Given the description of an element on the screen output the (x, y) to click on. 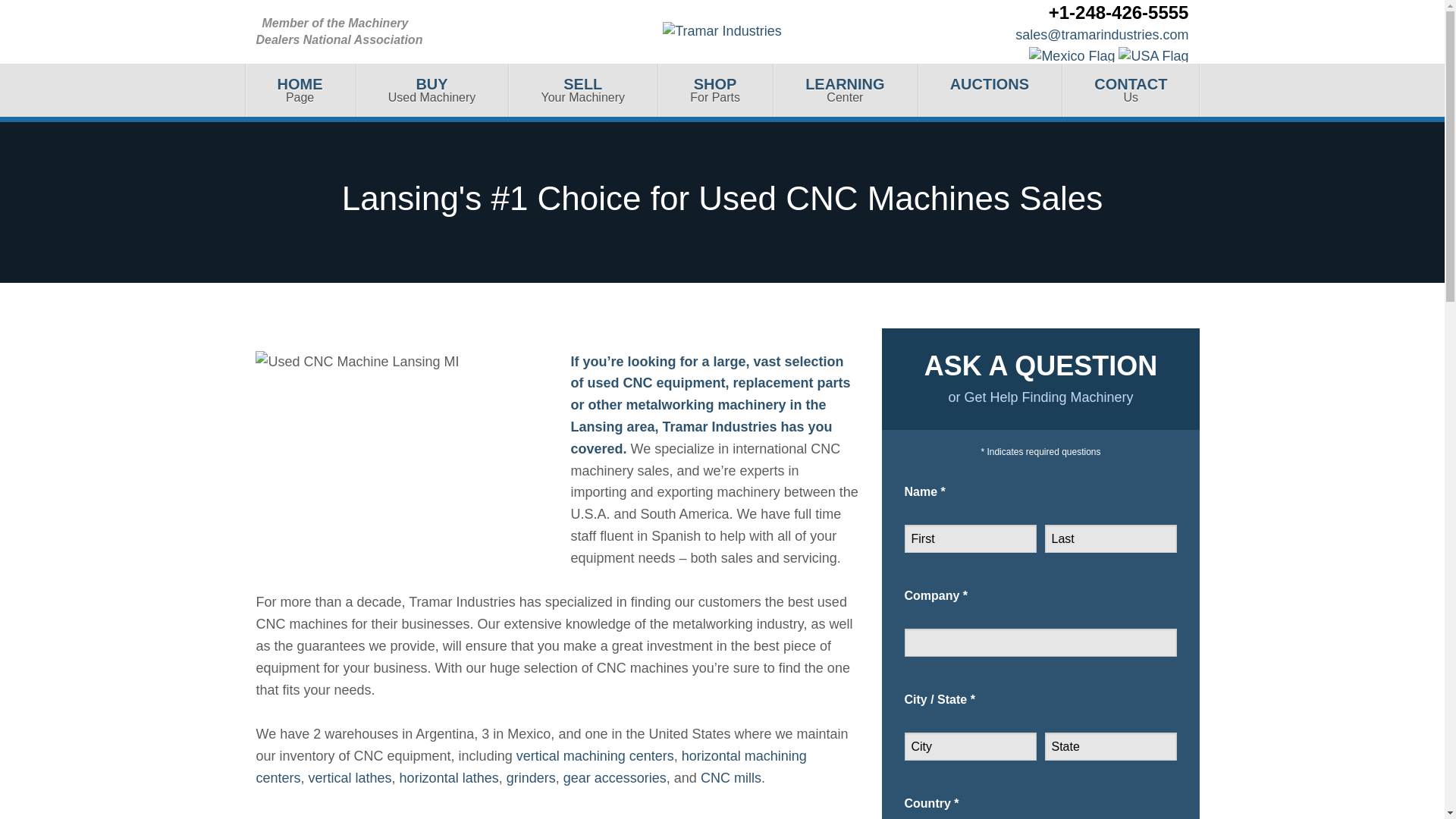
AUCTIONS (403, 32)
CNC mills (989, 90)
horizontal machining centers (431, 90)
